Given the description of an element on the screen output the (x, y) to click on. 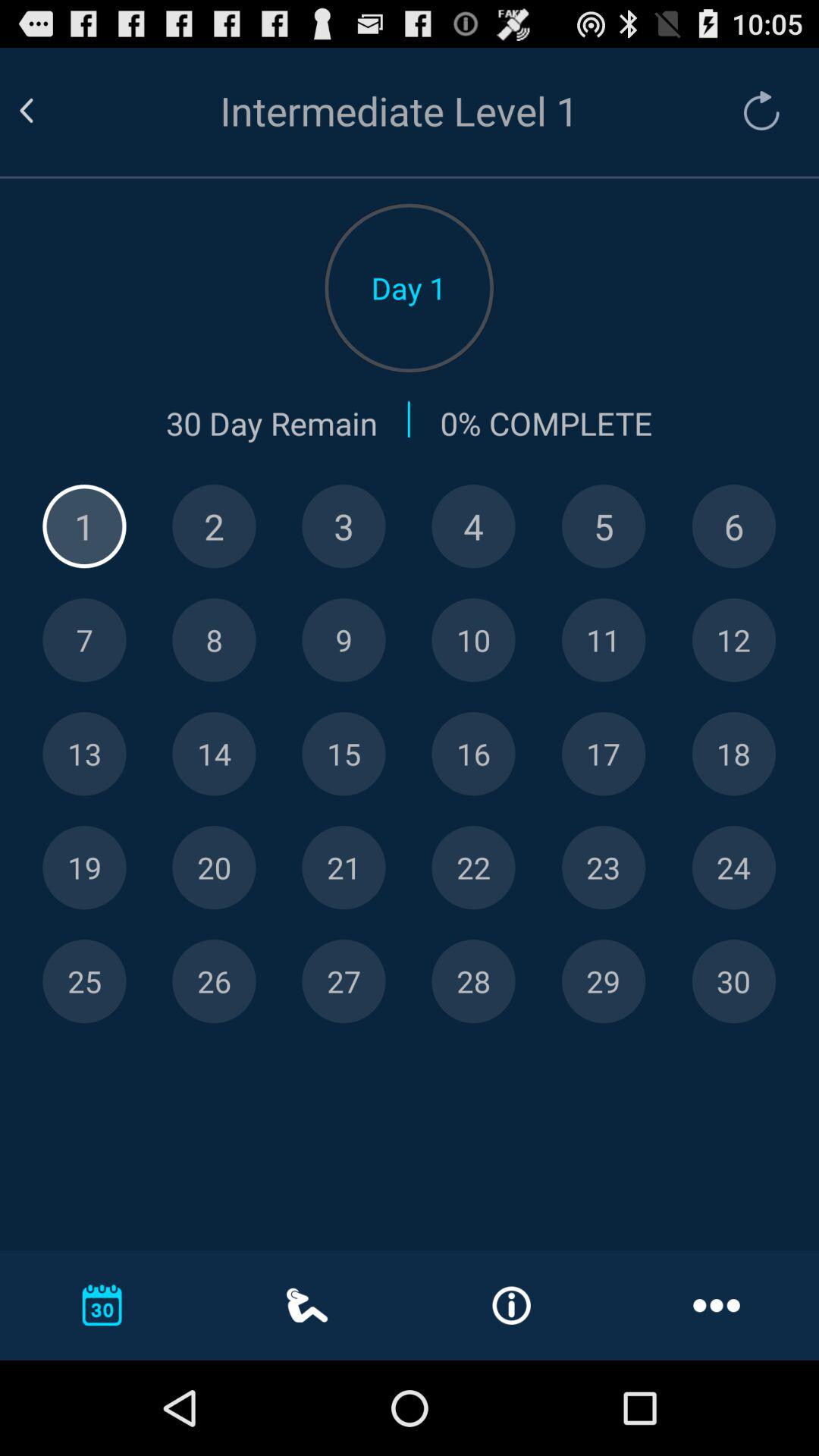
day 23 (603, 867)
